Given the description of an element on the screen output the (x, y) to click on. 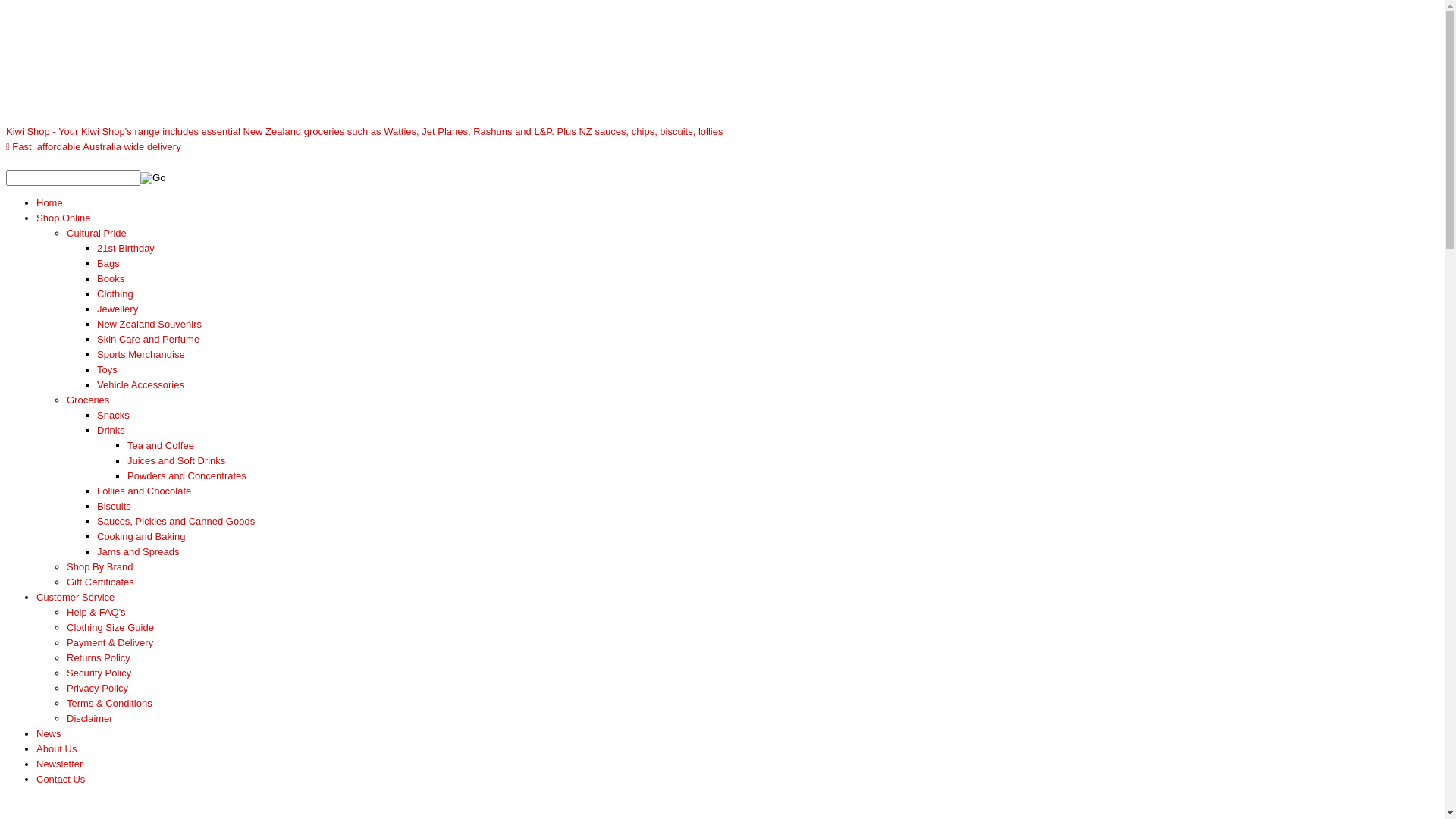
Shop Online Element type: text (63, 217)
Clothing Element type: text (115, 293)
Newsletter Element type: text (59, 763)
Snacks Element type: text (113, 414)
21st Birthday Element type: text (125, 248)
Biscuits Element type: text (114, 505)
Contact Us Element type: text (60, 778)
Toys Element type: text (107, 369)
Skin Care and Perfume Element type: text (148, 339)
Clothing Size Guide Element type: text (109, 627)
Sports Merchandise Element type: text (141, 354)
Sauces, Pickles and Canned Goods Element type: text (175, 521)
Payment & Delivery Element type: text (109, 642)
Customer Service Element type: text (75, 596)
Home Element type: text (49, 202)
Bags Element type: text (108, 263)
Cultural Pride Element type: text (96, 232)
Groceries Element type: text (87, 399)
Disclaimer Element type: text (89, 718)
Help & FAQ's Element type: text (95, 612)
Powders and Concentrates Element type: text (186, 475)
Security Policy Element type: text (98, 672)
Search for products... Element type: hover (73, 177)
Tea and Coffee Element type: text (160, 445)
Drinks Element type: text (111, 430)
Books Element type: text (110, 278)
Lollies and Chocolate Element type: text (144, 490)
News Element type: text (48, 733)
Jams and Spreads Element type: text (137, 551)
Fast, affordable Australia wide delivery Element type: text (93, 146)
Jewellery Element type: text (117, 308)
Cooking and Baking Element type: text (141, 536)
About Us Element type: text (56, 748)
Shop By Brand Element type: text (99, 566)
Juices and Soft Drinks Element type: text (176, 460)
Vehicle Accessories Element type: text (140, 384)
Terms & Conditions Element type: text (109, 703)
Gift Certificates Element type: text (100, 581)
Privacy Policy Element type: text (97, 687)
Returns Policy Element type: text (98, 657)
New Zealand Souvenirs Element type: text (149, 323)
